Given the description of an element on the screen output the (x, y) to click on. 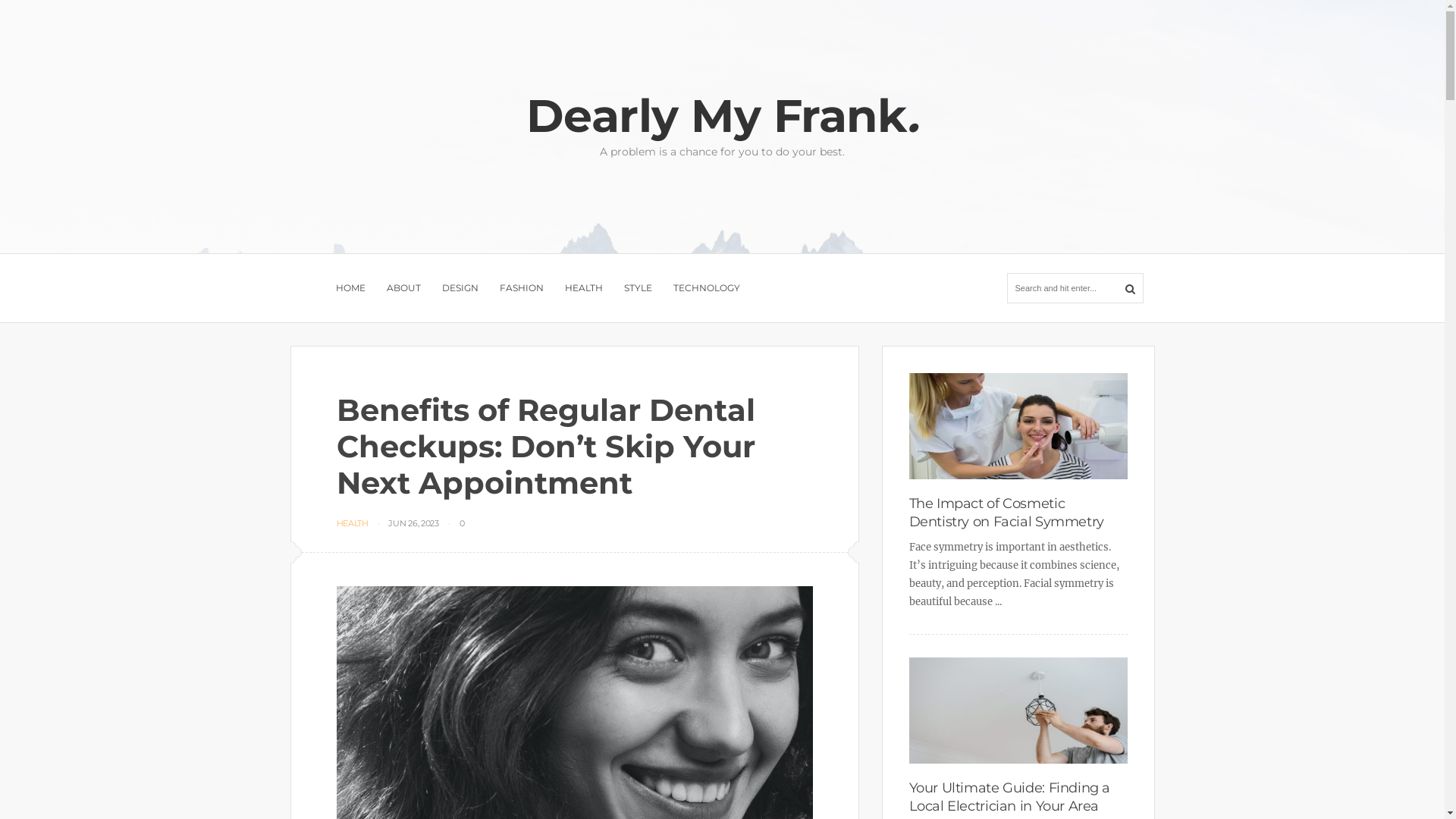
DESIGN Element type: text (459, 287)
FASHION Element type: text (520, 287)
HEALTH Element type: text (583, 287)
HEALTH Element type: text (352, 522)
The Impact of Cosmetic Dentistry on Facial Symmetry Element type: text (1005, 512)
Dearly My Frank. Element type: text (722, 115)
HOME Element type: text (349, 287)
TECHNOLOGY Element type: text (706, 287)
ABOUT Element type: text (403, 287)
STYLE Element type: text (637, 287)
